Given the description of an element on the screen output the (x, y) to click on. 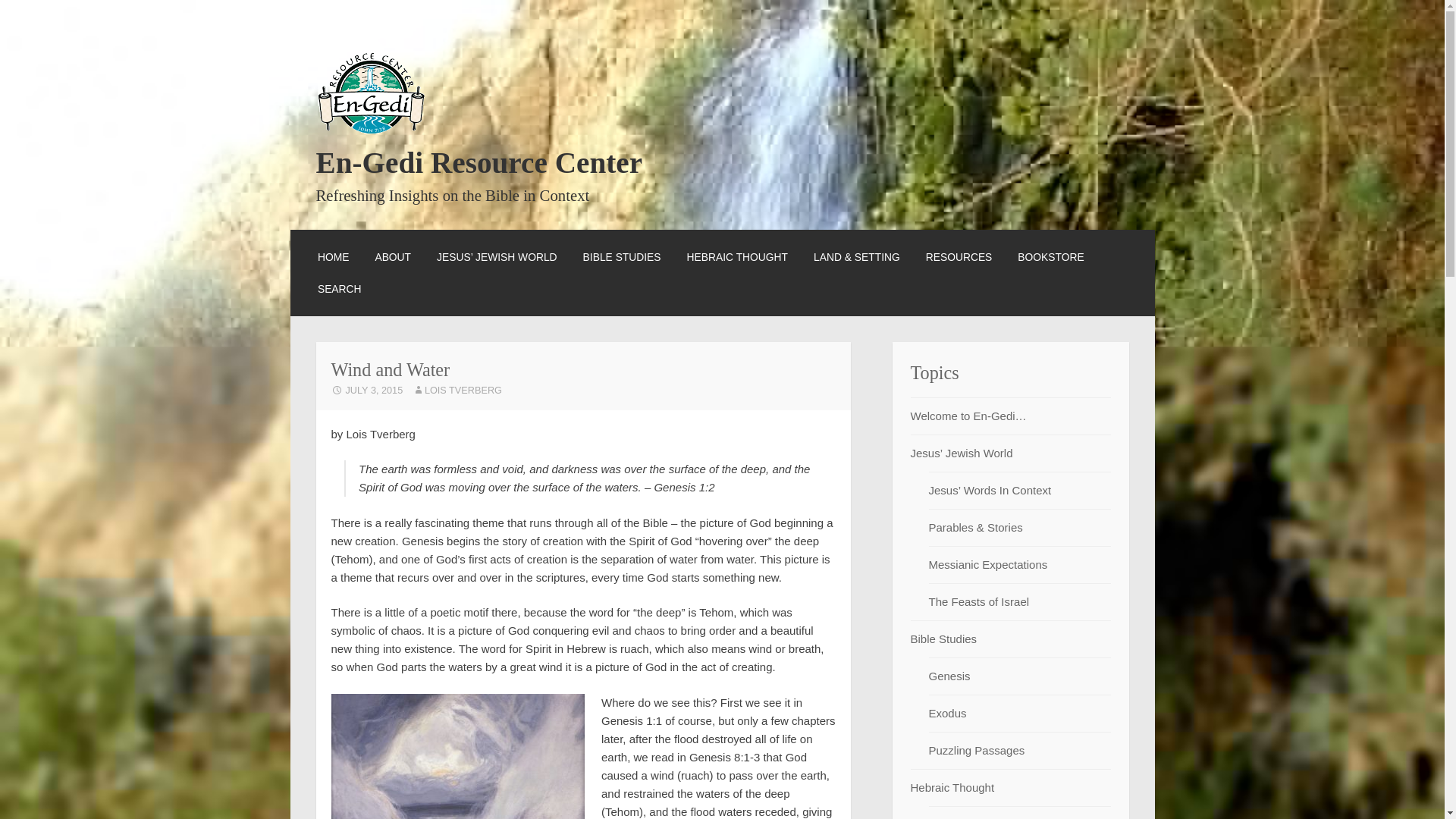
RESOURCES (959, 256)
HOME (333, 256)
HEBRAIC THOUGHT (737, 256)
JULY 3, 2015 (366, 389)
LOIS TVERBERG (457, 389)
En-Gedi Resource Center (478, 162)
Permalink to Wind and Water (366, 389)
En-Gedi Resource Center (478, 162)
SEARCH (339, 288)
BOOKSTORE (1050, 256)
